Given the description of an element on the screen output the (x, y) to click on. 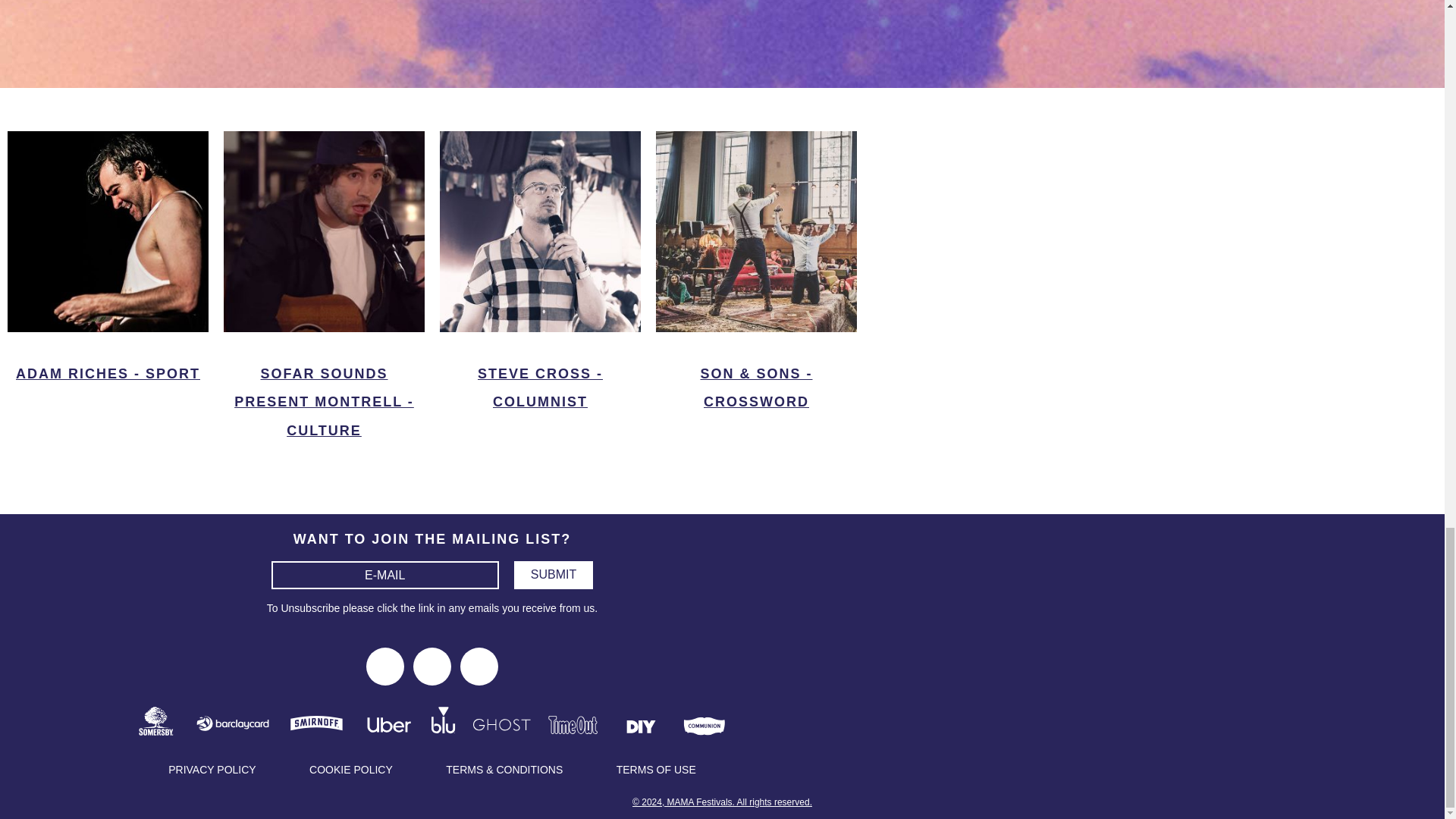
SIMON EVANS - BUSINESS (107, 61)
Submit (552, 574)
TWAYNA MAYNE - UK NEWS (755, 61)
COOKIE POLICY (350, 769)
Submit (552, 574)
FERN BRADY - UK NEWS (539, 47)
Submit (552, 574)
TERMS OF USE (656, 769)
Email Address (384, 574)
PRIVACY POLICY (211, 769)
